Given the description of an element on the screen output the (x, y) to click on. 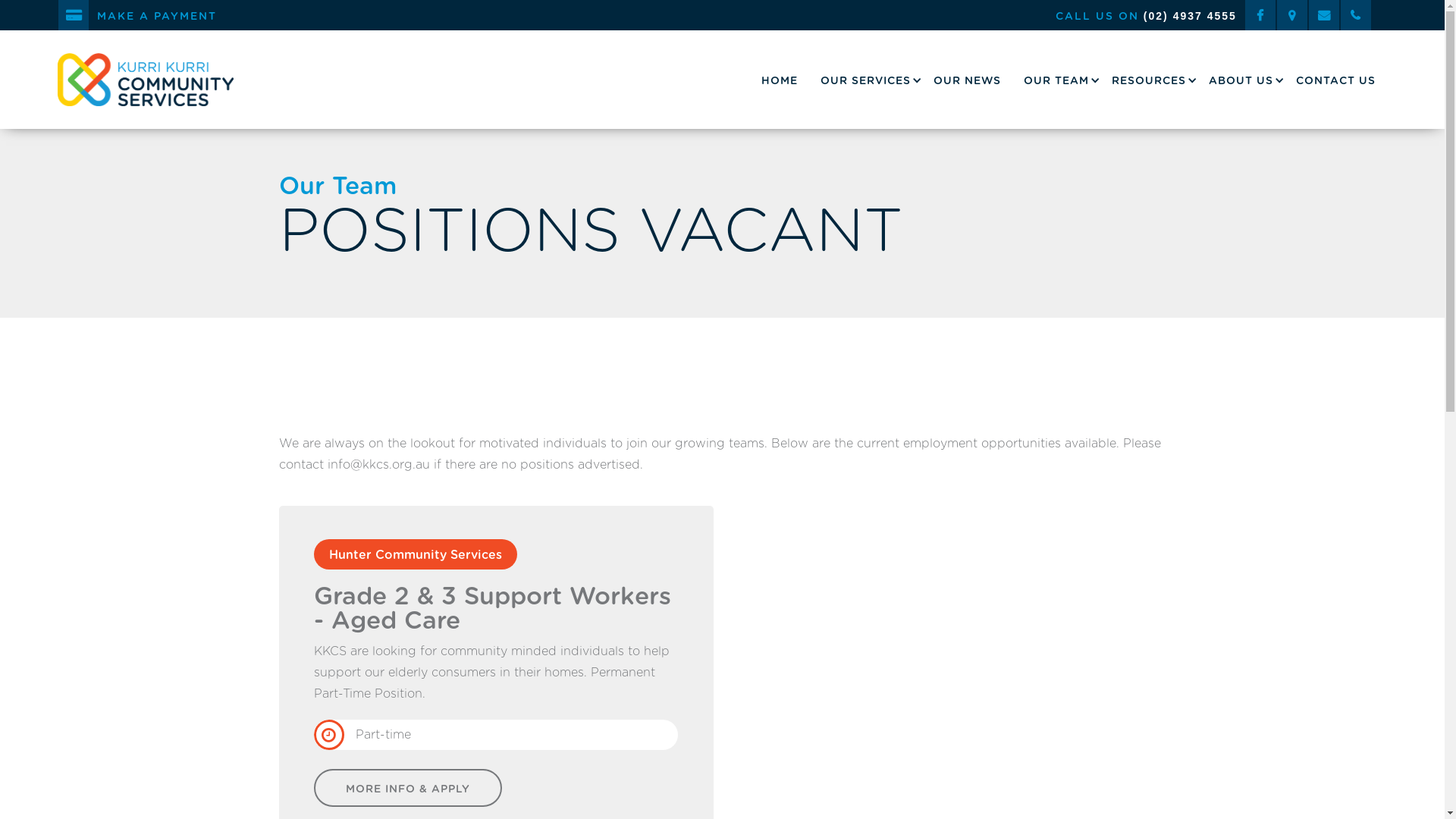
MORE INFO & APPLY Element type: text (407, 787)
OUR NEWS Element type: text (967, 79)
HOME Element type: text (779, 79)
CONTACT US Element type: text (1335, 79)
(02) 4937 4555 Element type: text (1189, 15)
